Given the description of an element on the screen output the (x, y) to click on. 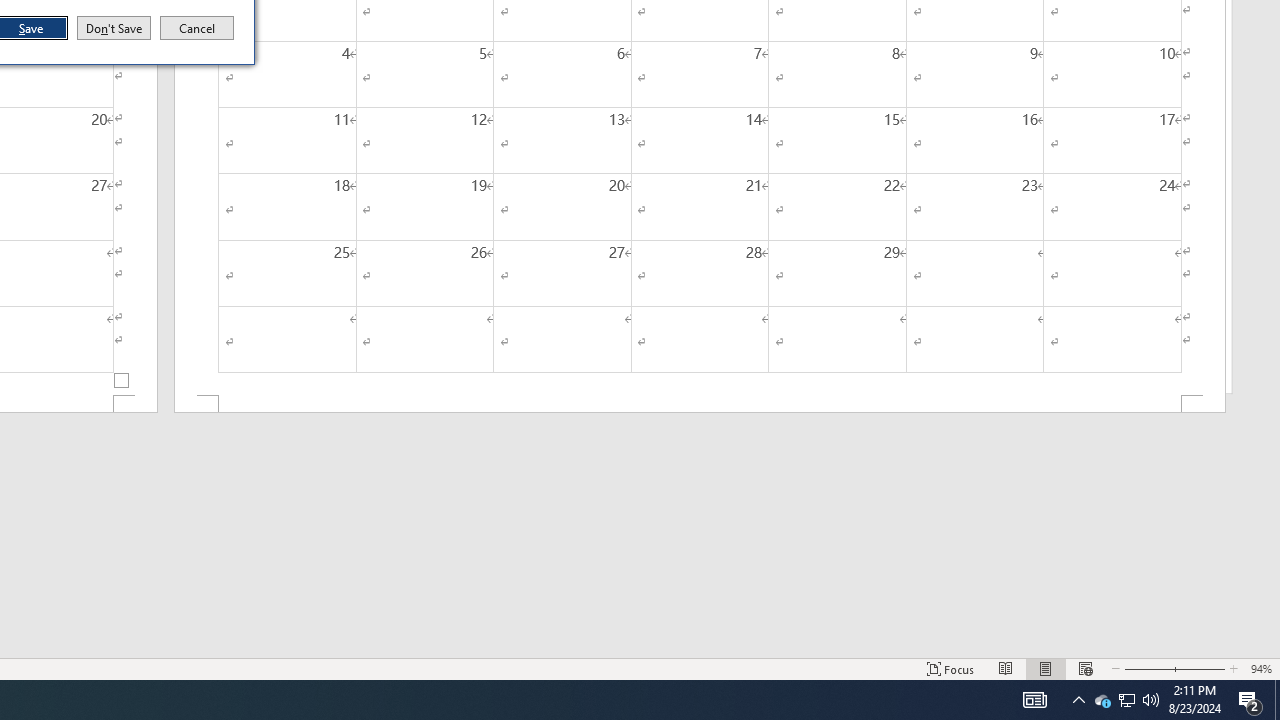
Footer -Section 2- (700, 404)
Don't Save (113, 27)
